Given the description of an element on the screen output the (x, y) to click on. 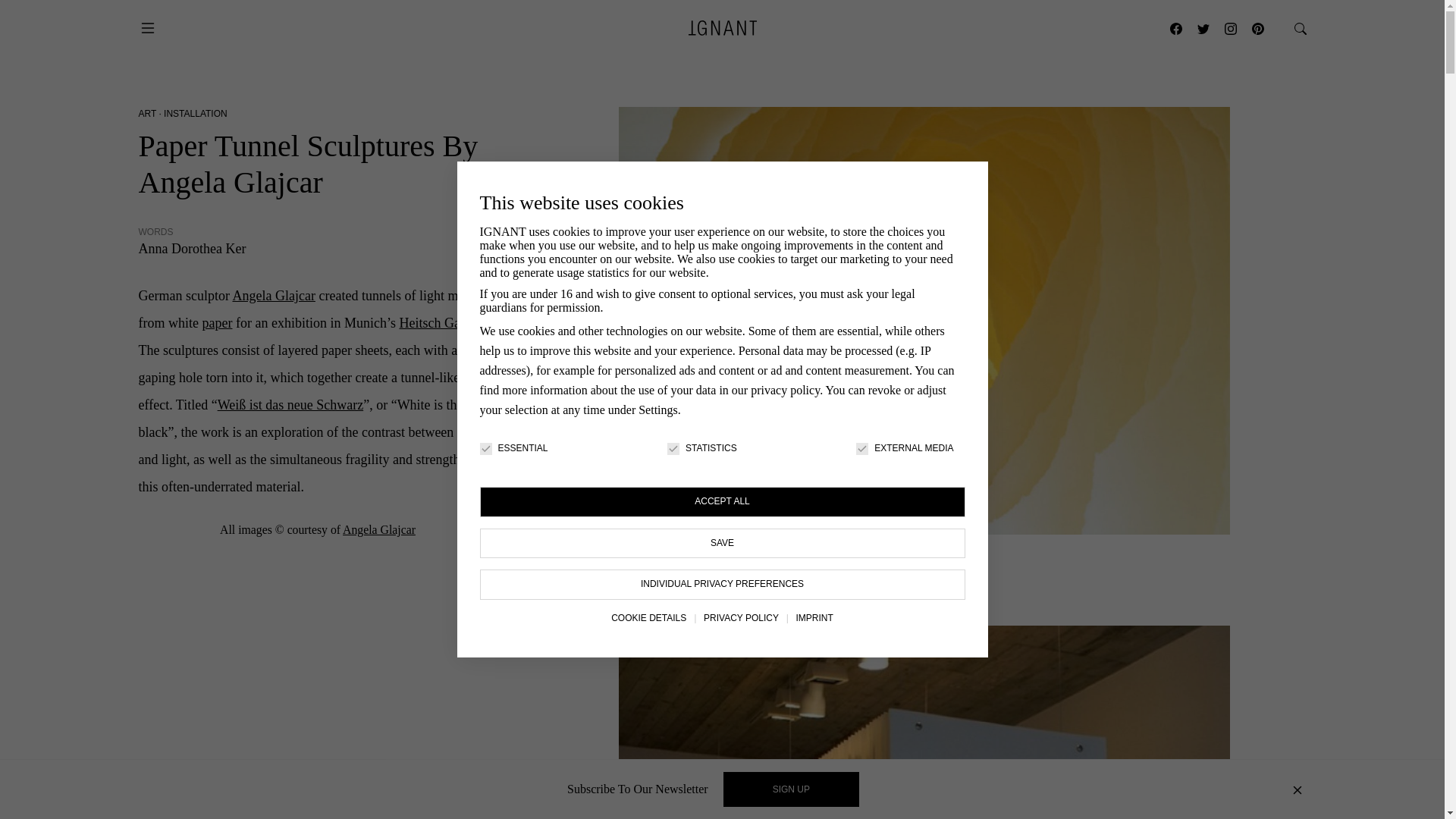
Anna Dorothea Ker (192, 248)
INSTALLATION (195, 113)
Angela Glajcar (272, 295)
ART (146, 113)
paper (216, 322)
Heitsch Gallery (440, 322)
Posts by Anna Dorothea Ker (192, 248)
Angela Glajcar (378, 529)
